Given the description of an element on the screen output the (x, y) to click on. 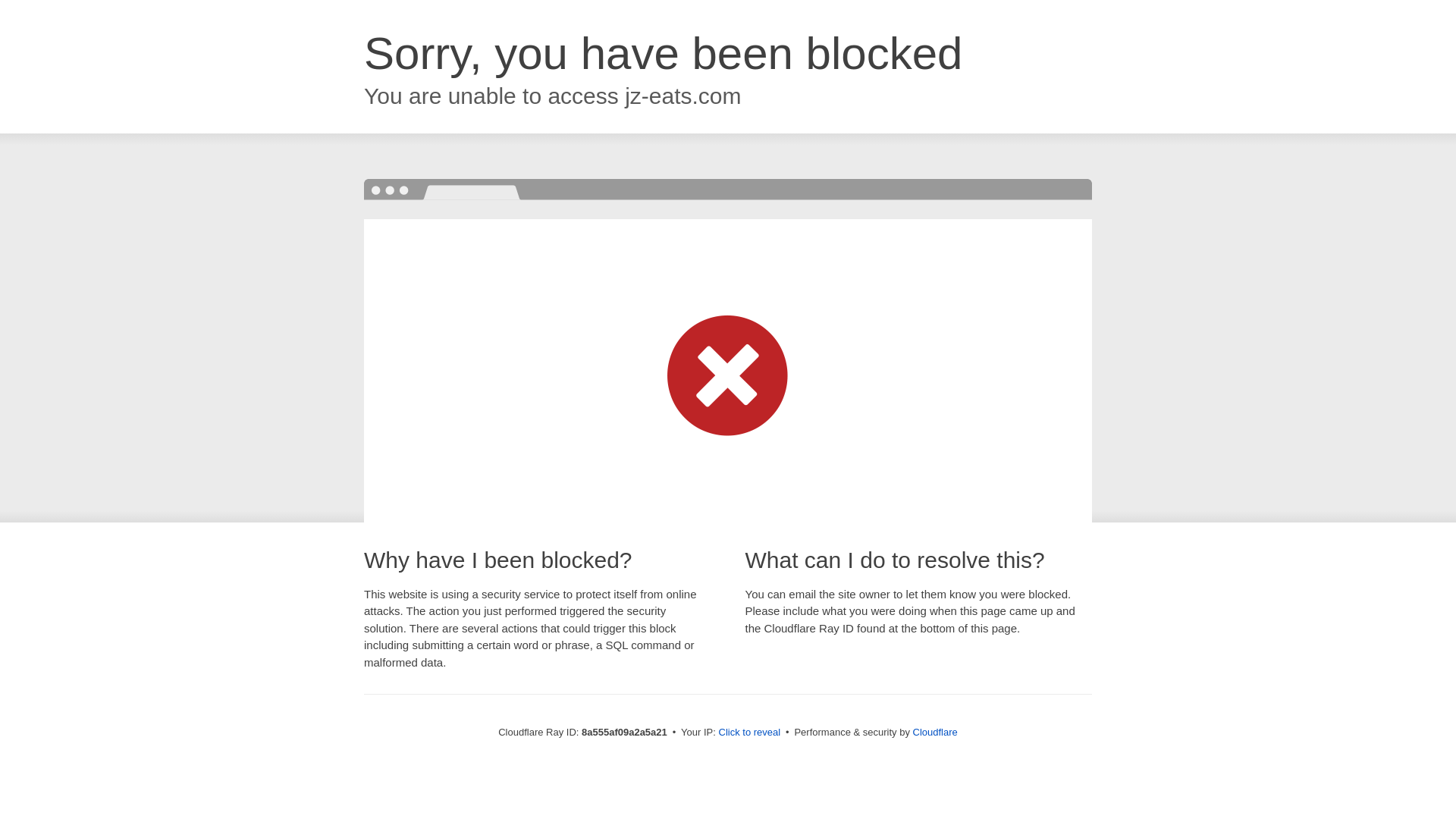
Click to reveal (749, 732)
Cloudflare (935, 731)
